Given the description of an element on the screen output the (x, y) to click on. 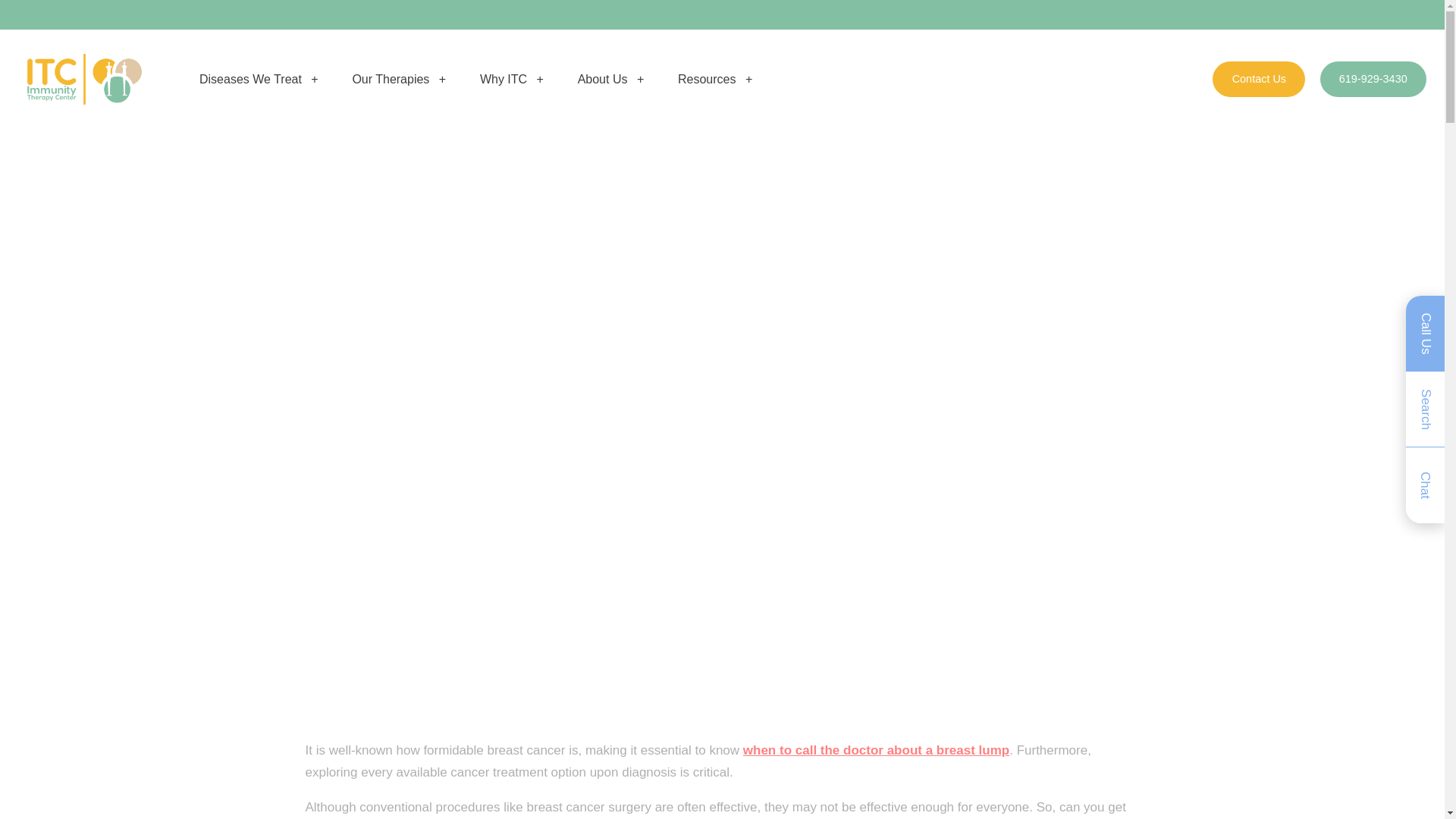
when to call the doctor about a breast lump (875, 749)
Why ITC (511, 78)
Diseases We Treat (258, 78)
Contact Us (1258, 78)
About Us (611, 78)
619-929-3430 (1373, 78)
Our Therapies (398, 78)
